Given the description of an element on the screen output the (x, y) to click on. 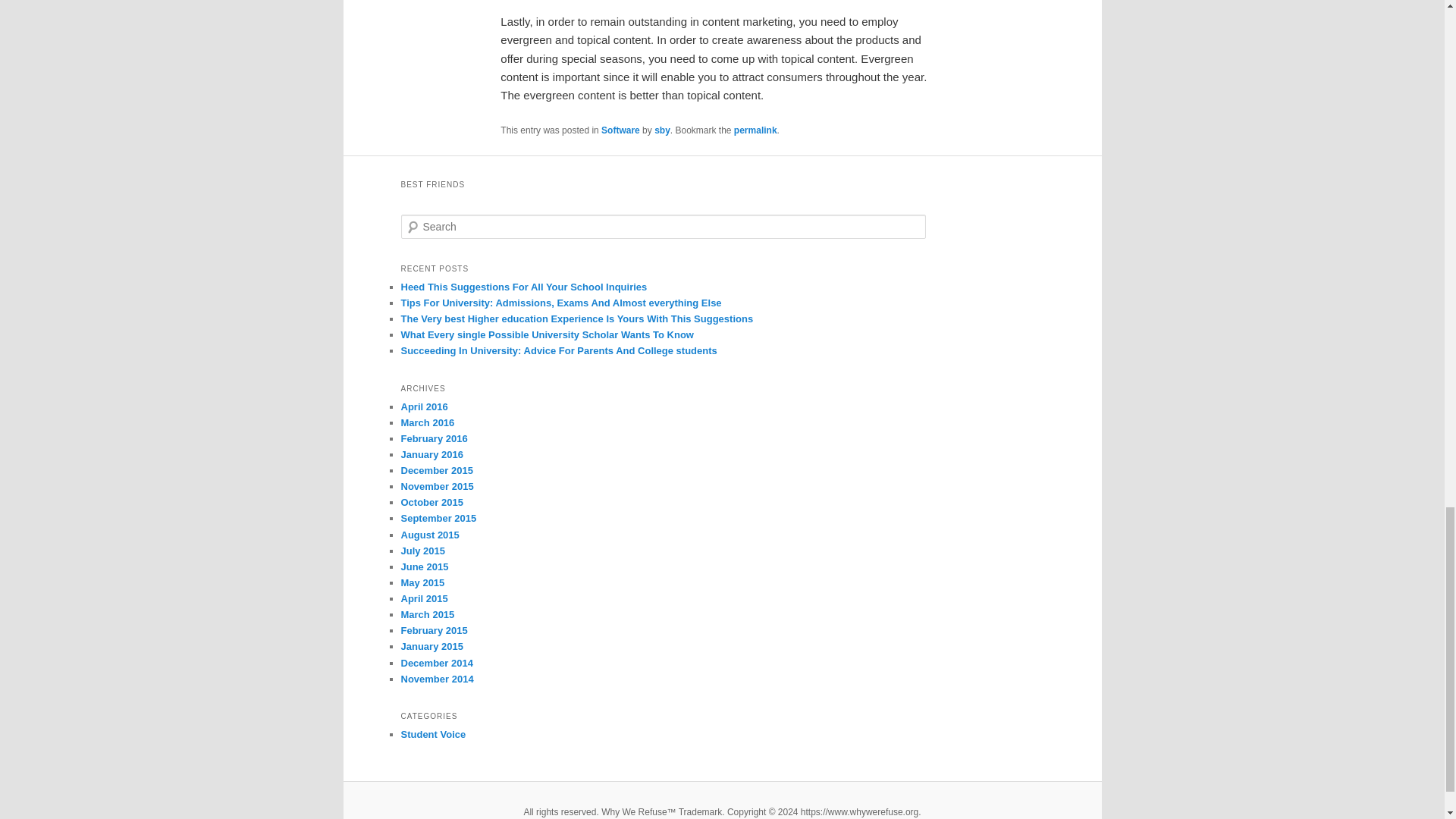
October 2015 (431, 501)
May 2015 (422, 582)
April 2016 (423, 406)
December 2015 (435, 470)
March 2015 (427, 614)
November 2015 (436, 486)
Heed This Suggestions For All Your School Inquiries (523, 286)
June 2015 (424, 566)
March 2016 (427, 422)
